Given the description of an element on the screen output the (x, y) to click on. 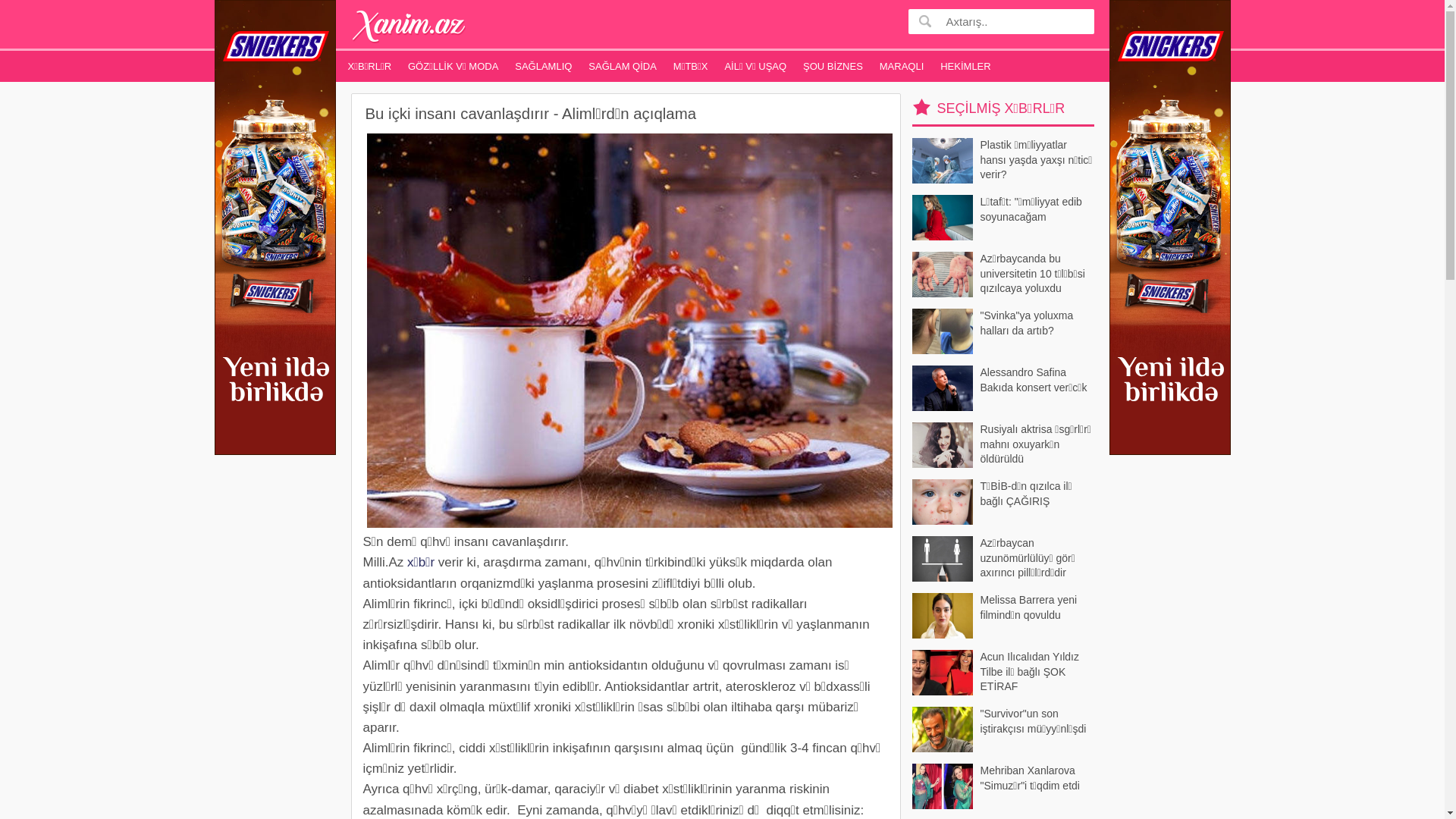
HEKIMLER Element type: text (964, 65)
  Element type: text (925, 20)
MARAQLI Element type: text (901, 65)
